Given the description of an element on the screen output the (x, y) to click on. 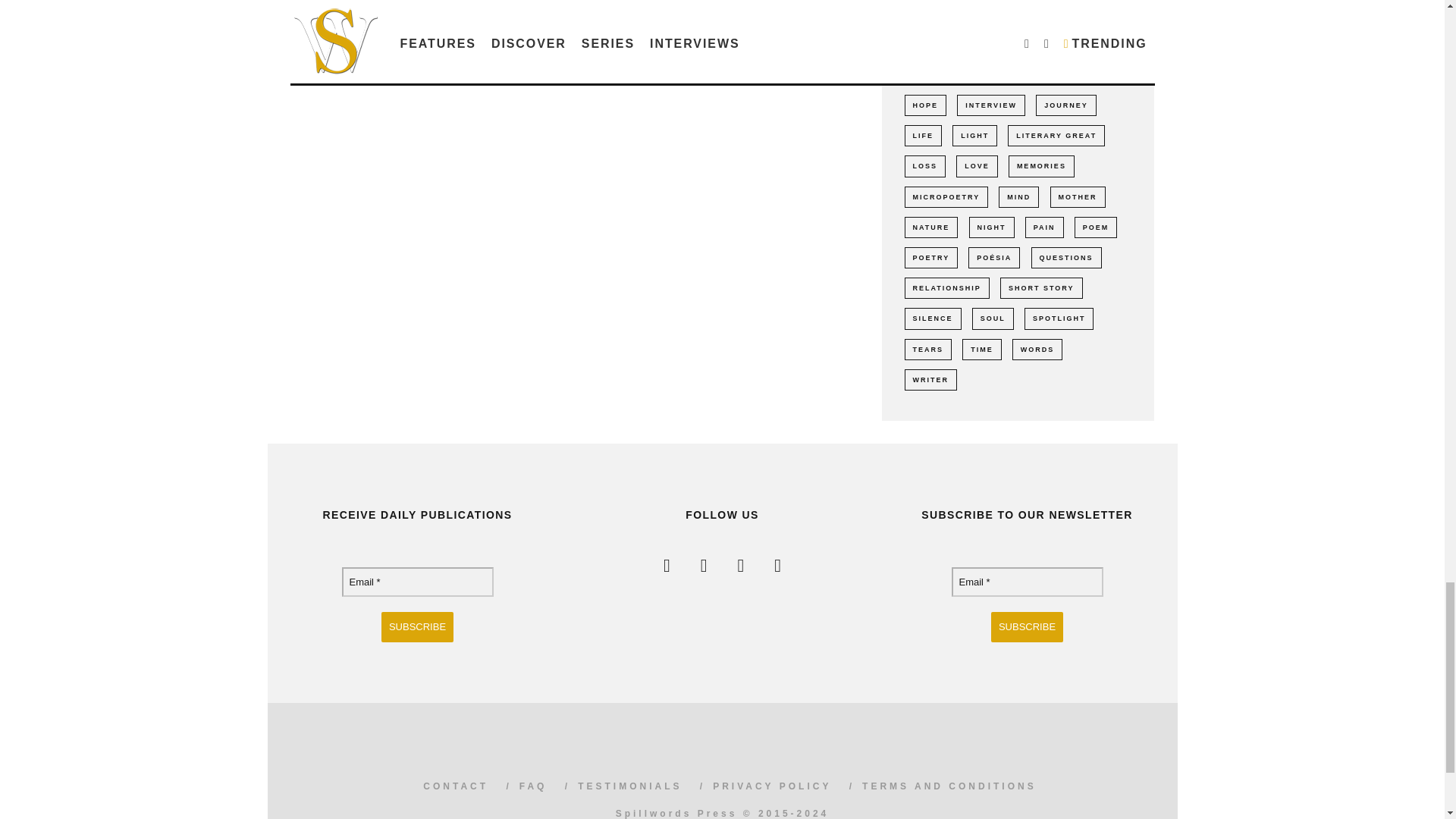
Email (416, 582)
Email (1026, 582)
Subscribe (1026, 626)
Subscribe (416, 626)
